Given the description of an element on the screen output the (x, y) to click on. 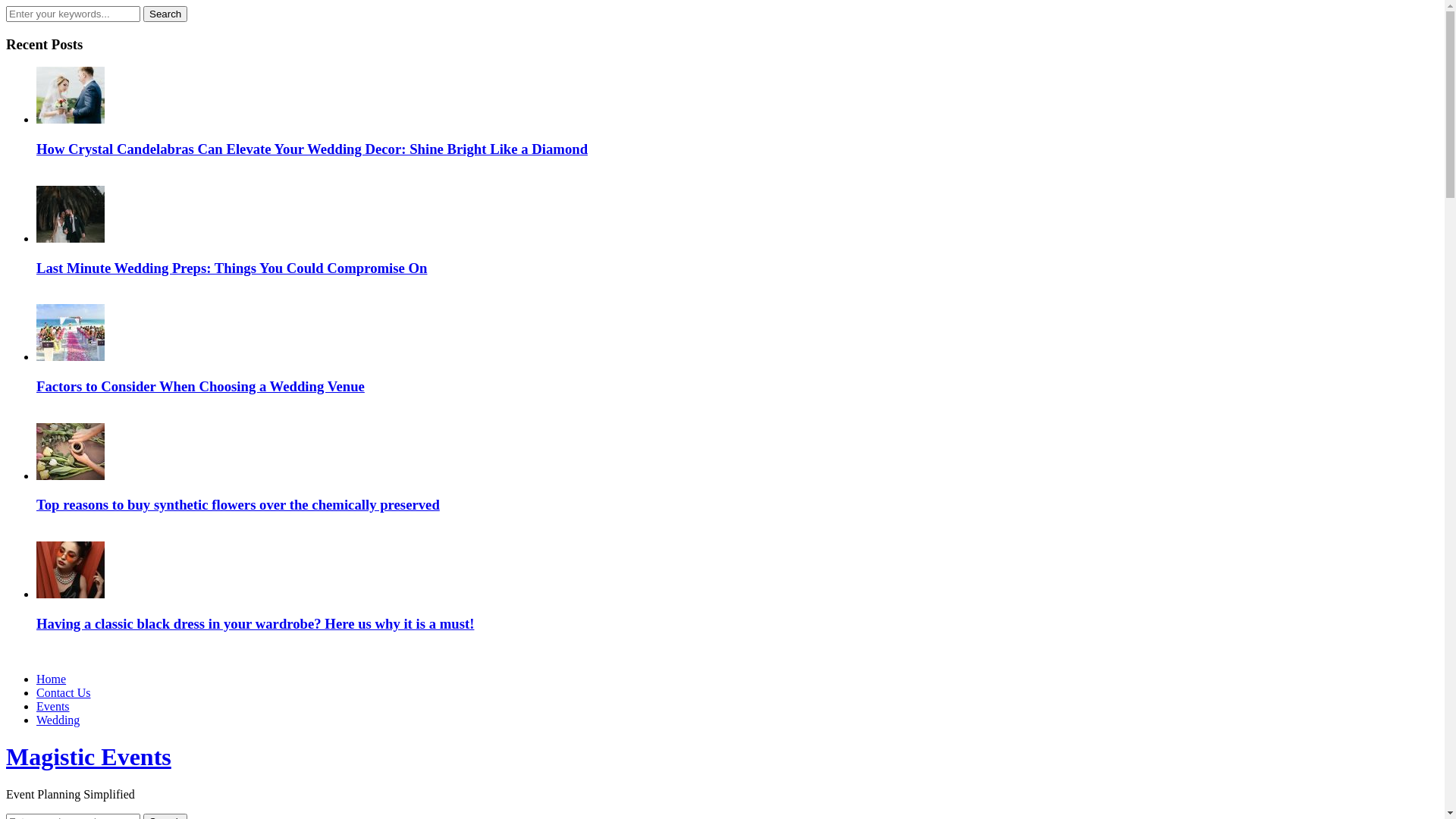
Home Element type: text (50, 678)
Magistic Events Element type: text (88, 756)
Contact Us Element type: text (63, 692)
Last Minute Wedding Preps: Things You Could Compromise On Element type: text (231, 268)
Wedding Element type: text (57, 719)
Search Element type: text (165, 13)
Events Element type: text (52, 705)
Factors to Consider When Choosing a Wedding Venue Element type: text (200, 386)
